Given the description of an element on the screen output the (x, y) to click on. 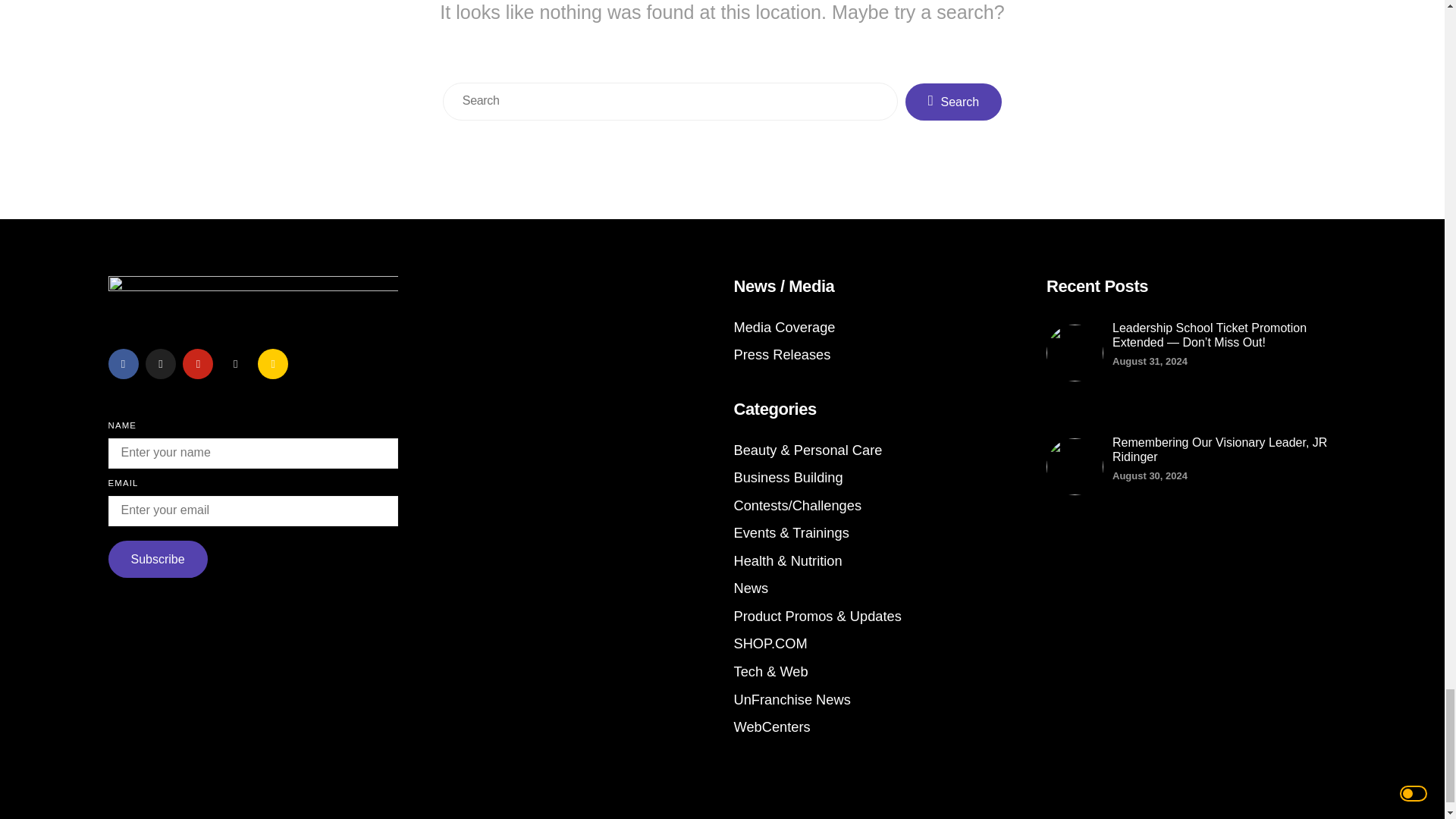
Subscribe (156, 559)
Pinterest (197, 363)
Facebook (122, 363)
FeedBurner (272, 363)
Instagram (235, 363)
